Given the description of an element on the screen output the (x, y) to click on. 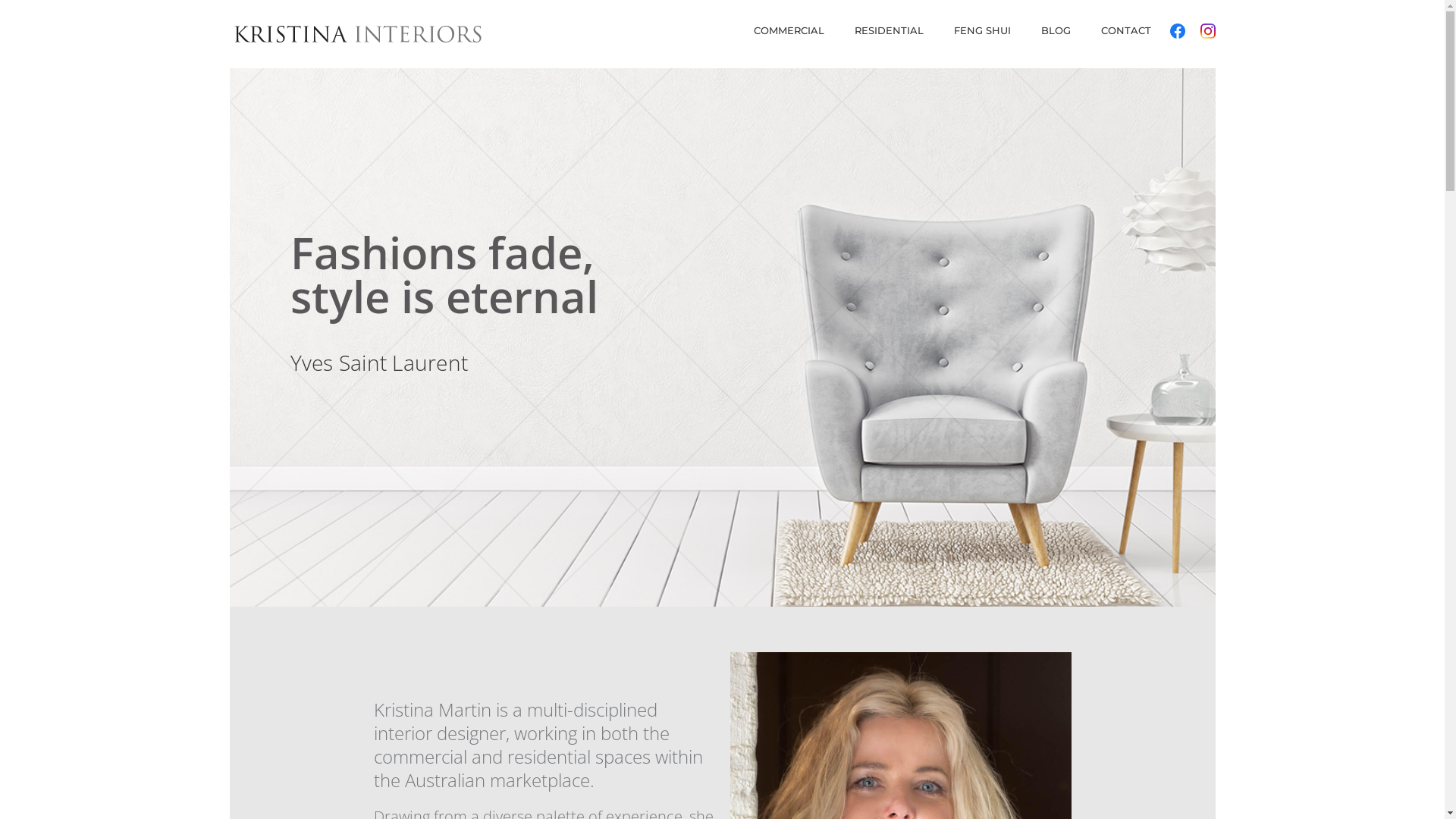
FENG SHUI Element type: text (982, 36)
CONTACT Element type: text (1125, 36)
RESIDENTIAL Element type: text (888, 36)
BLOG Element type: text (1055, 36)
COMMERCIAL Element type: text (788, 36)
